Given the description of an element on the screen output the (x, y) to click on. 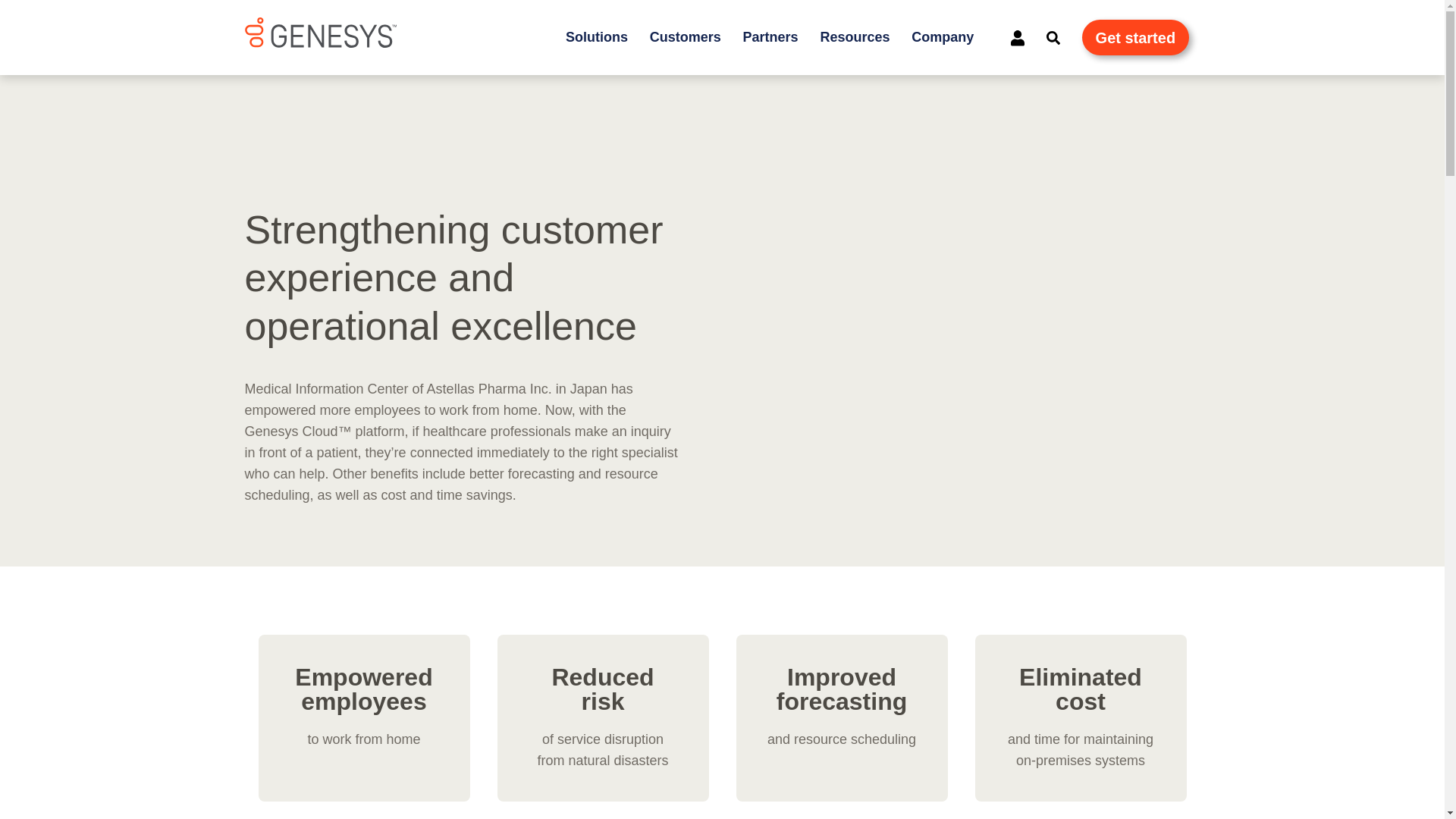
Solutions (596, 37)
Partners (770, 37)
Customers (685, 37)
